Given the description of an element on the screen output the (x, y) to click on. 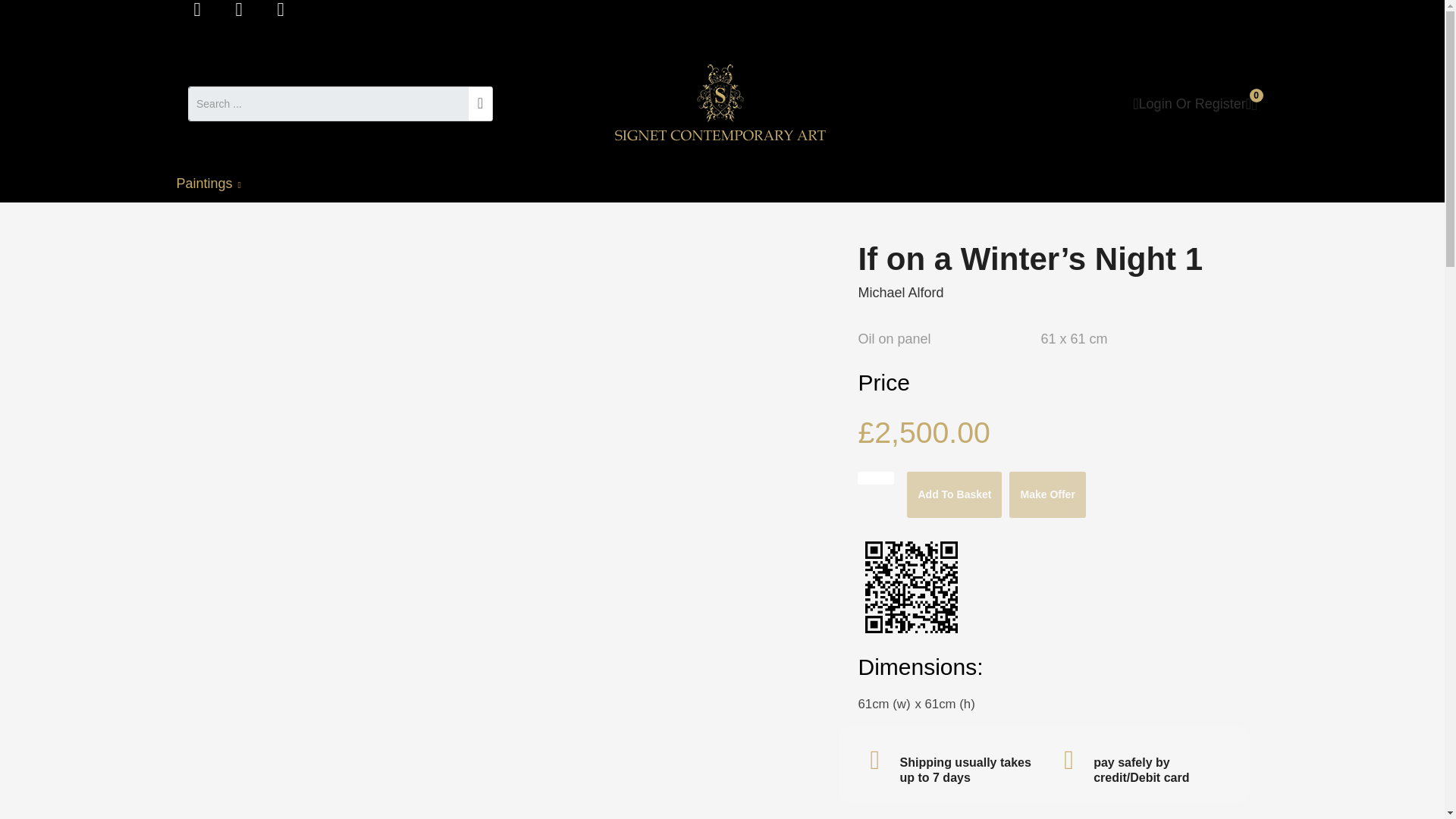
Artists (472, 183)
1 (875, 477)
Sculptures (303, 183)
Paintings (216, 183)
Auctions (391, 183)
Login Or Register (1188, 103)
